Given the description of an element on the screen output the (x, y) to click on. 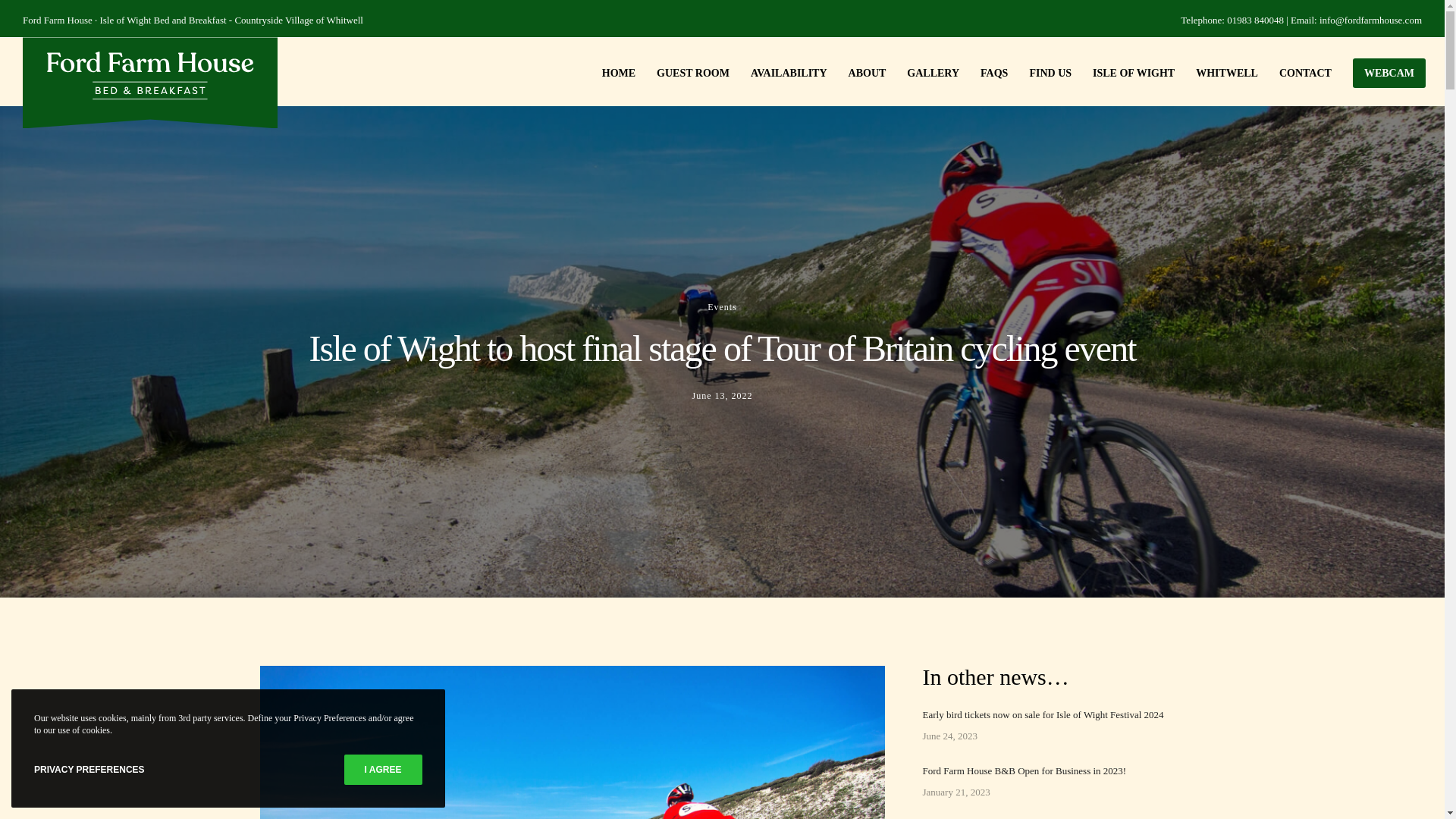
AVAILABILITY (778, 71)
GUEST ROOM (681, 71)
WHITWELL (1215, 71)
01983 840048 (1255, 19)
FIND US (1039, 71)
WEBCAM (1378, 71)
Events (721, 307)
CONTACT (1294, 71)
GALLERY (922, 71)
ISLE OF WIGHT (1122, 71)
